Given the description of an element on the screen output the (x, y) to click on. 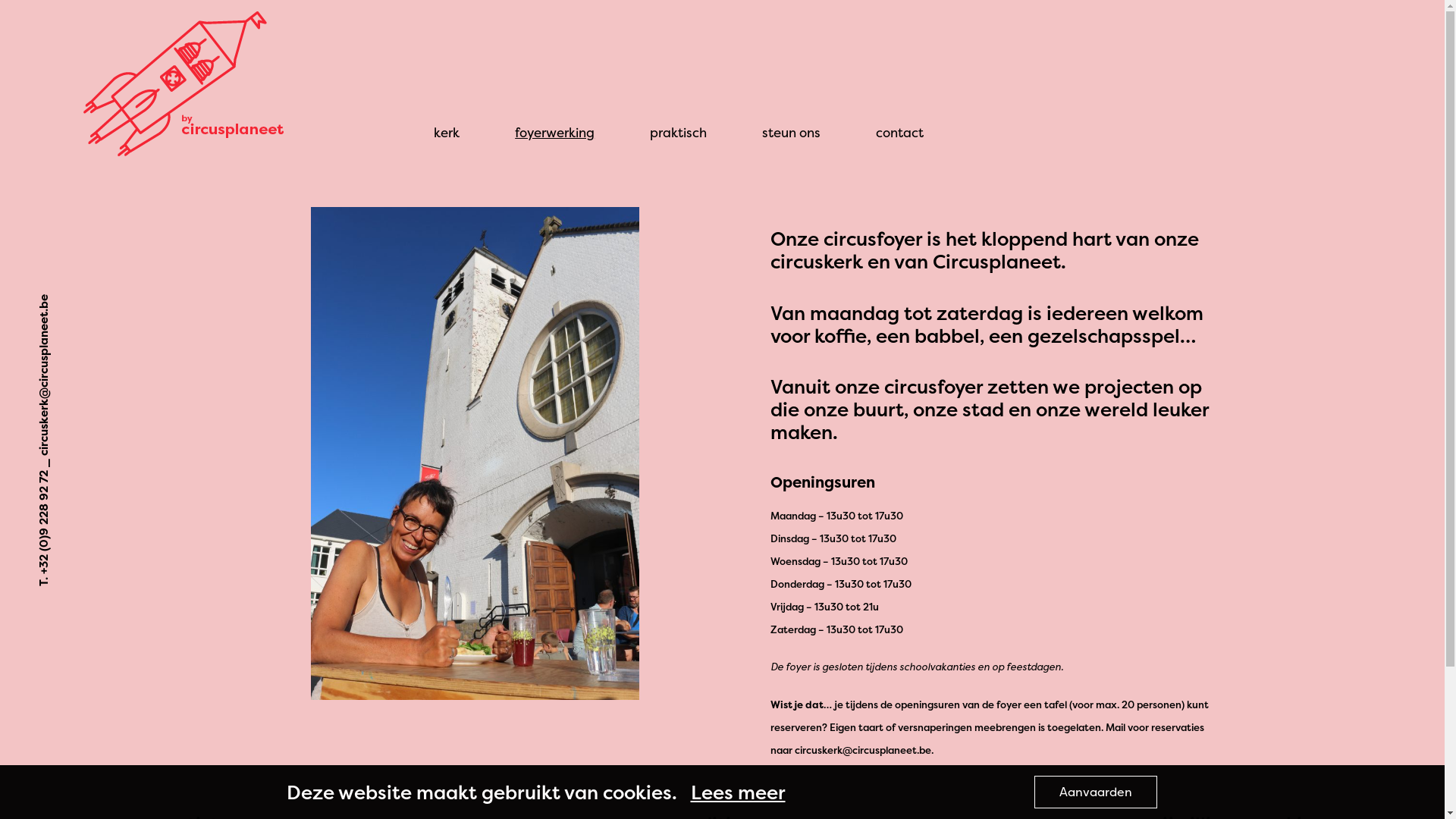
Circuskerk Element type: text (130, 172)
circuskerk@circusplaneet.be Element type: text (115, 302)
foyerwerking Element type: text (554, 131)
praktisch Element type: text (677, 131)
Aanvaarden Element type: text (1095, 791)
Lees meer Element type: text (737, 792)
+32 (0)9 228 92 72 Element type: text (87, 478)
contact Element type: text (899, 131)
kerk Element type: text (446, 131)
steun ons Element type: text (791, 131)
